Given the description of an element on the screen output the (x, y) to click on. 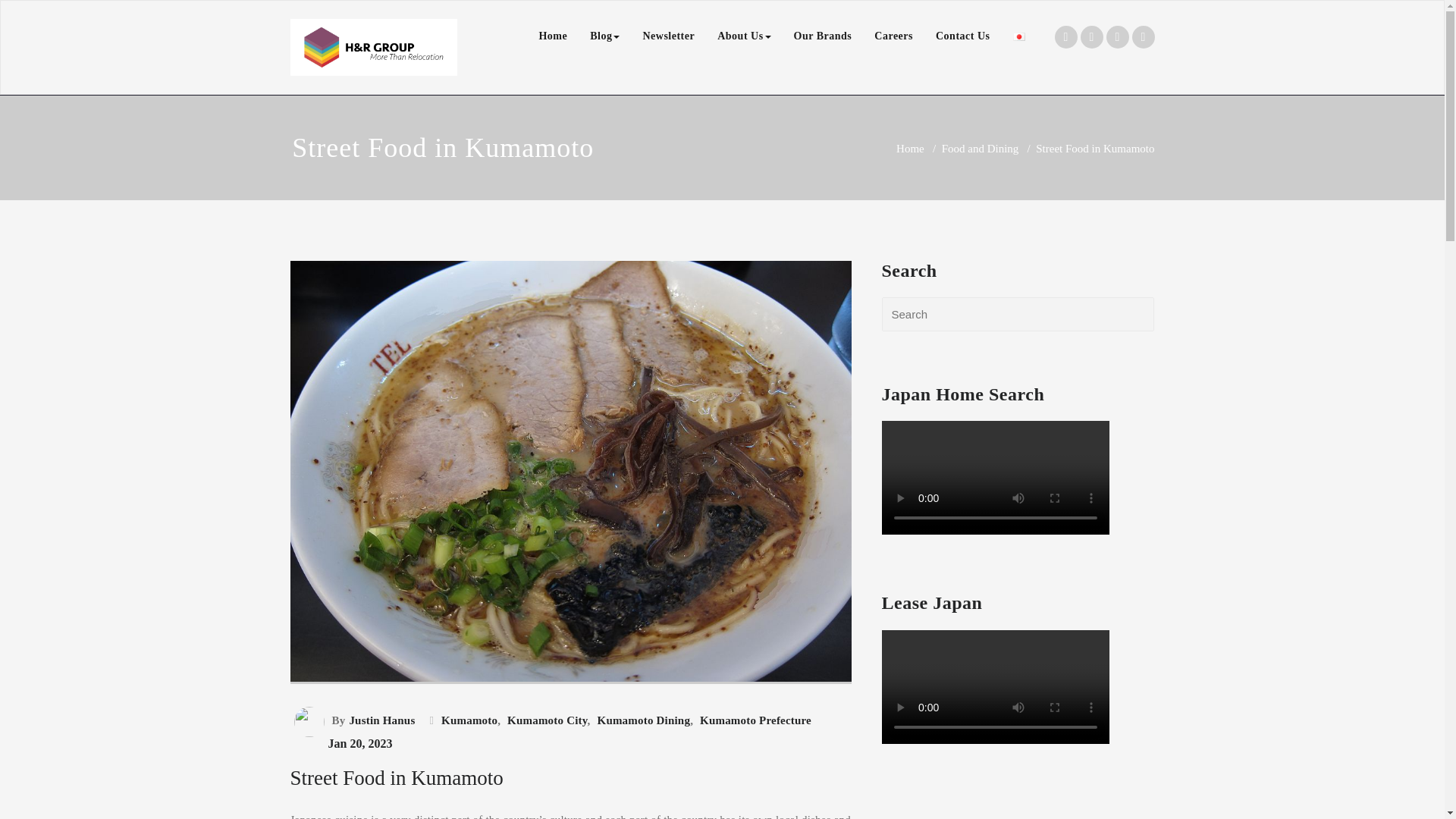
Kumamoto (467, 720)
Kumamoto Prefecture (752, 720)
Kumamoto Dining (642, 720)
Justin Hanus (379, 720)
Street Food in Kumamoto (395, 777)
Food and Dining (980, 148)
Home (910, 148)
About Us (743, 36)
Newsletter (668, 36)
Blog (604, 36)
Our Brands (823, 36)
Street Food in Kumamoto (569, 702)
Kumamoto City (545, 720)
Home (552, 36)
